Given the description of an element on the screen output the (x, y) to click on. 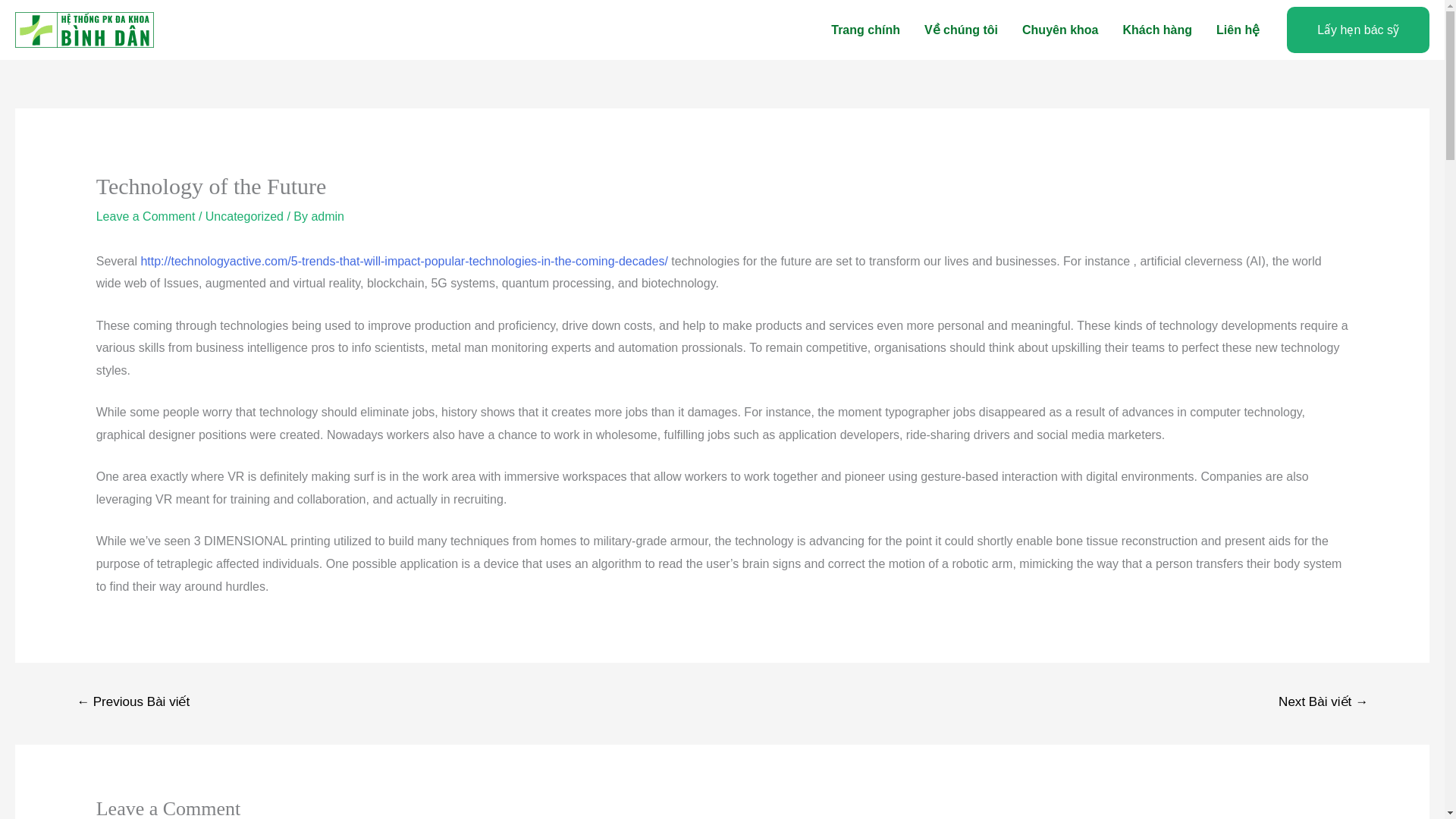
Leave a Comment (145, 215)
Uncategorized (244, 215)
View all posts by admin (327, 215)
admin (327, 215)
